Given the description of an element on the screen output the (x, y) to click on. 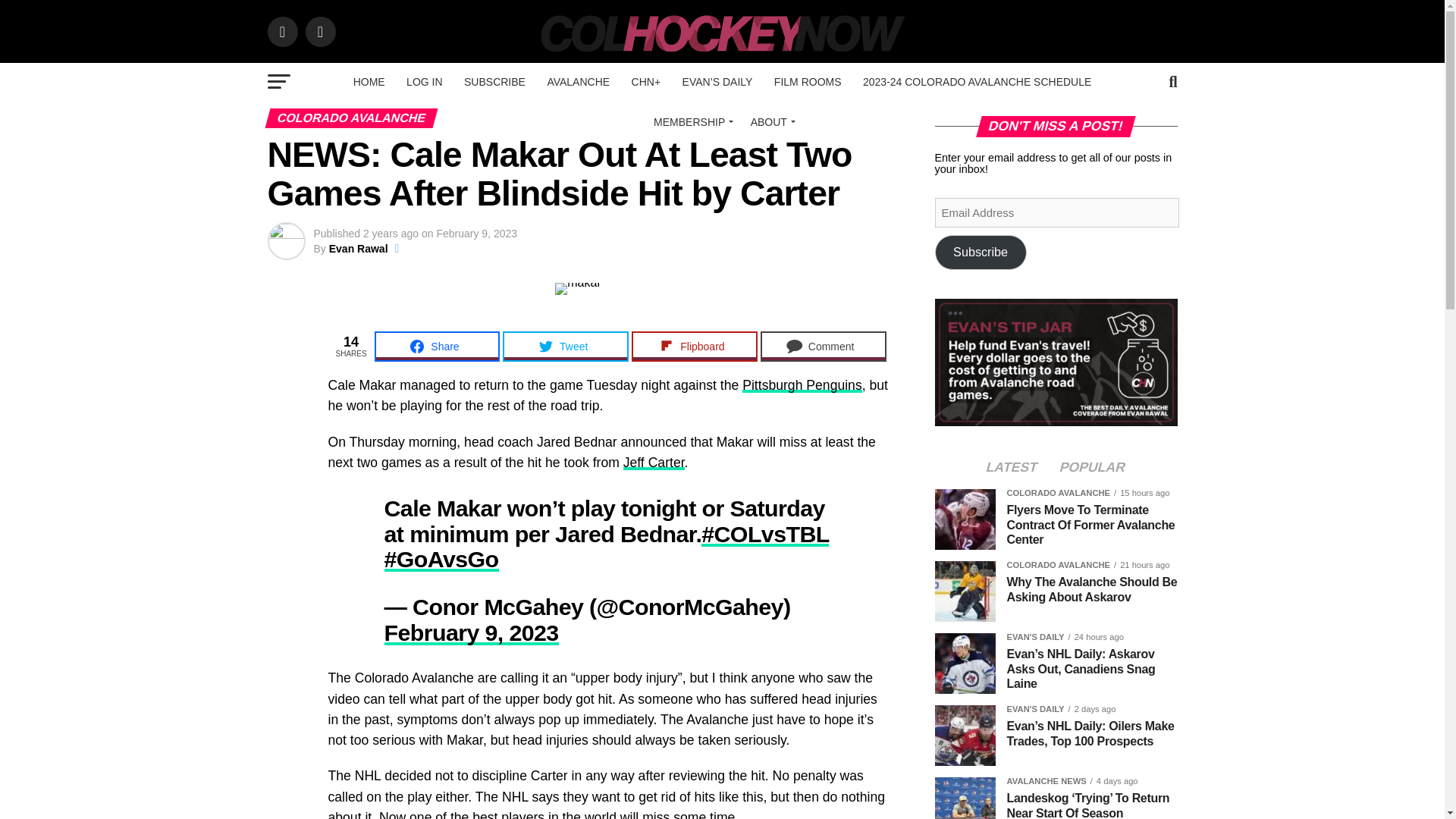
Share on Comment (823, 346)
Share on Flipboard (694, 346)
AVALANCHE (577, 81)
Posts by Evan Rawal (358, 248)
SUBSCRIBE (494, 81)
Share on Tweet (565, 346)
Share on Share (437, 346)
LOG IN (424, 81)
HOME (368, 81)
